Given the description of an element on the screen output the (x, y) to click on. 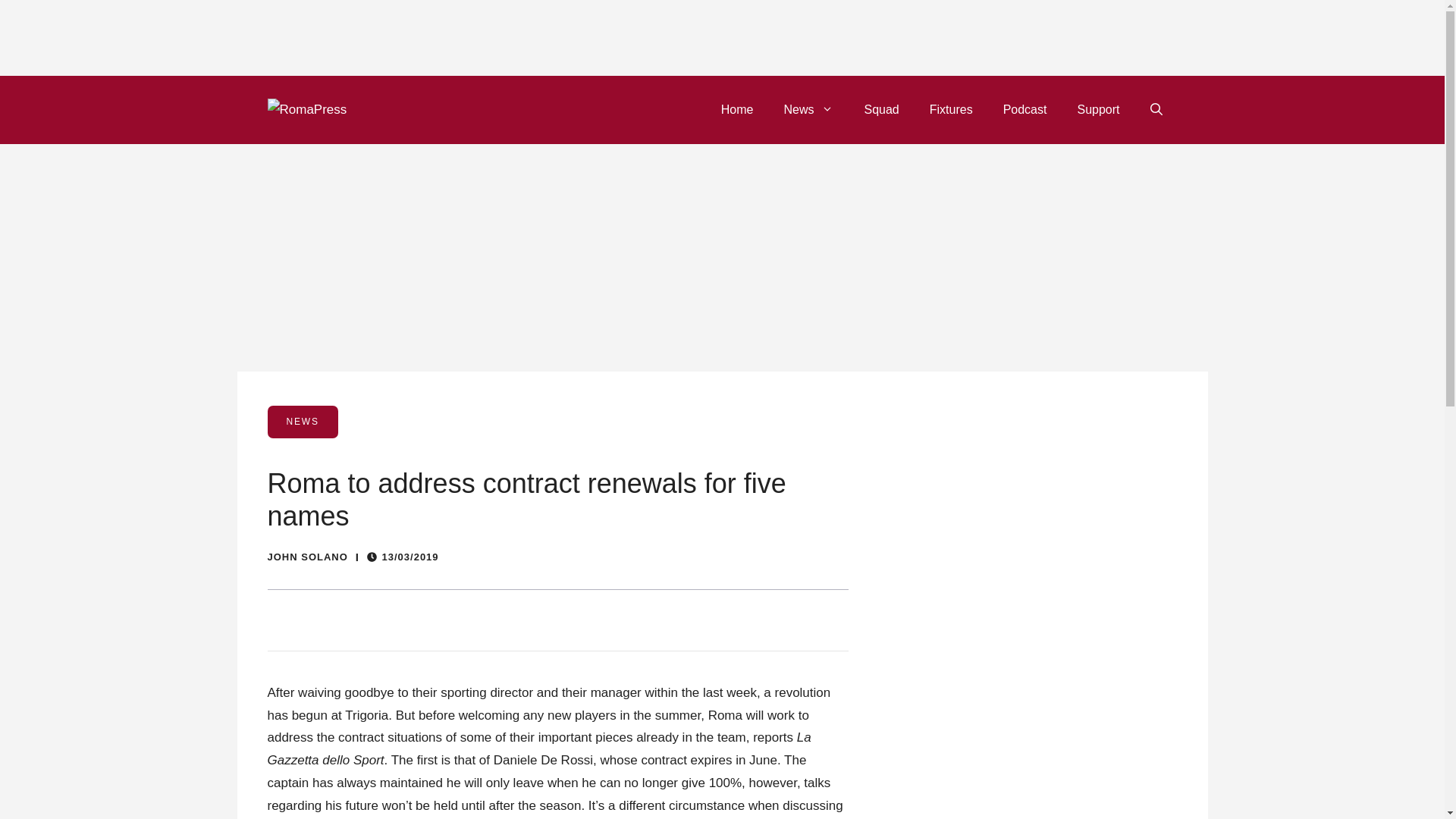
News (808, 109)
Squad (881, 109)
Podcast (1025, 109)
Home (737, 109)
Support (1097, 109)
Fixtures (951, 109)
